Given the description of an element on the screen output the (x, y) to click on. 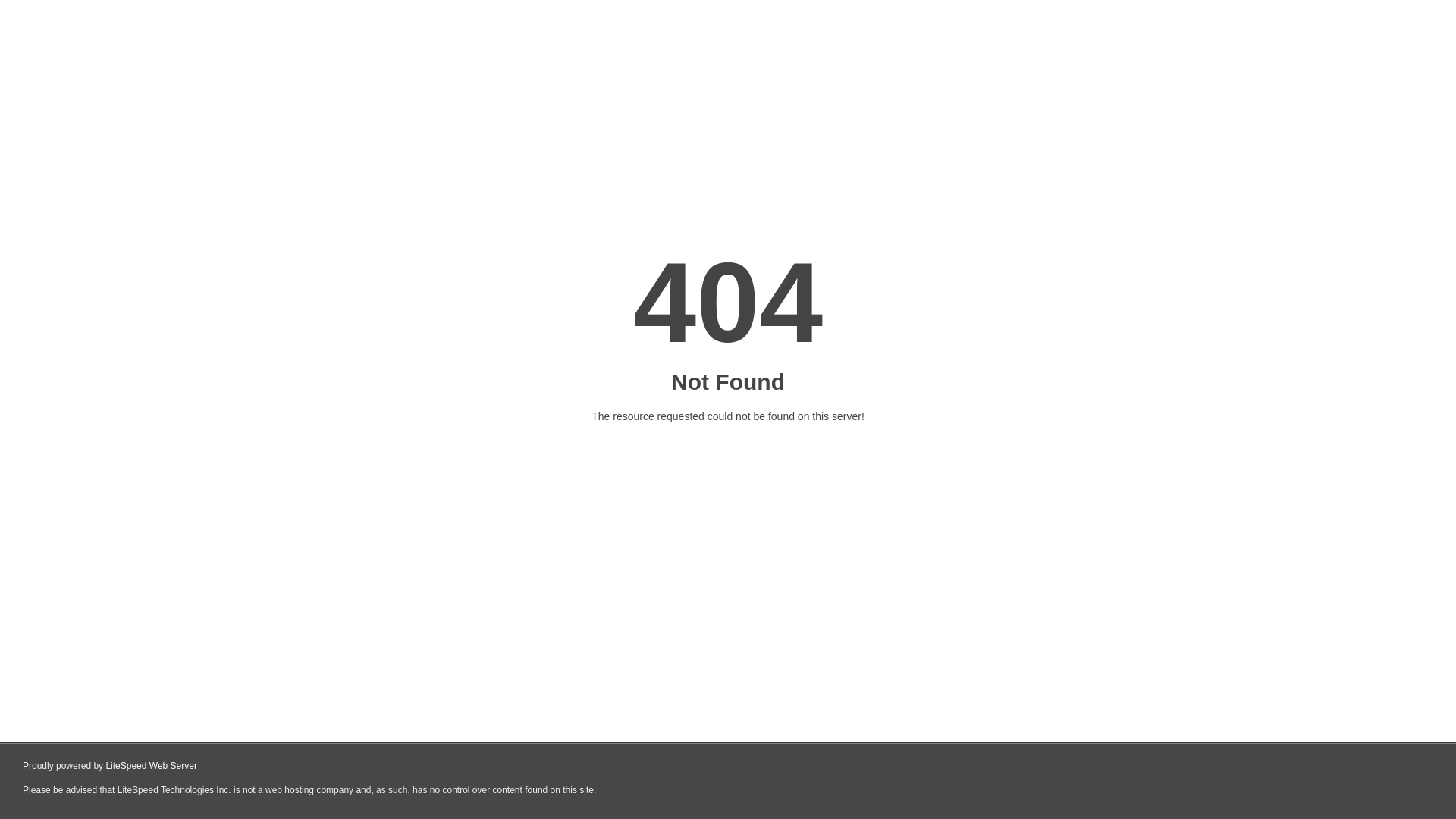
LiteSpeed Web Server Element type: text (151, 765)
